Given the description of an element on the screen output the (x, y) to click on. 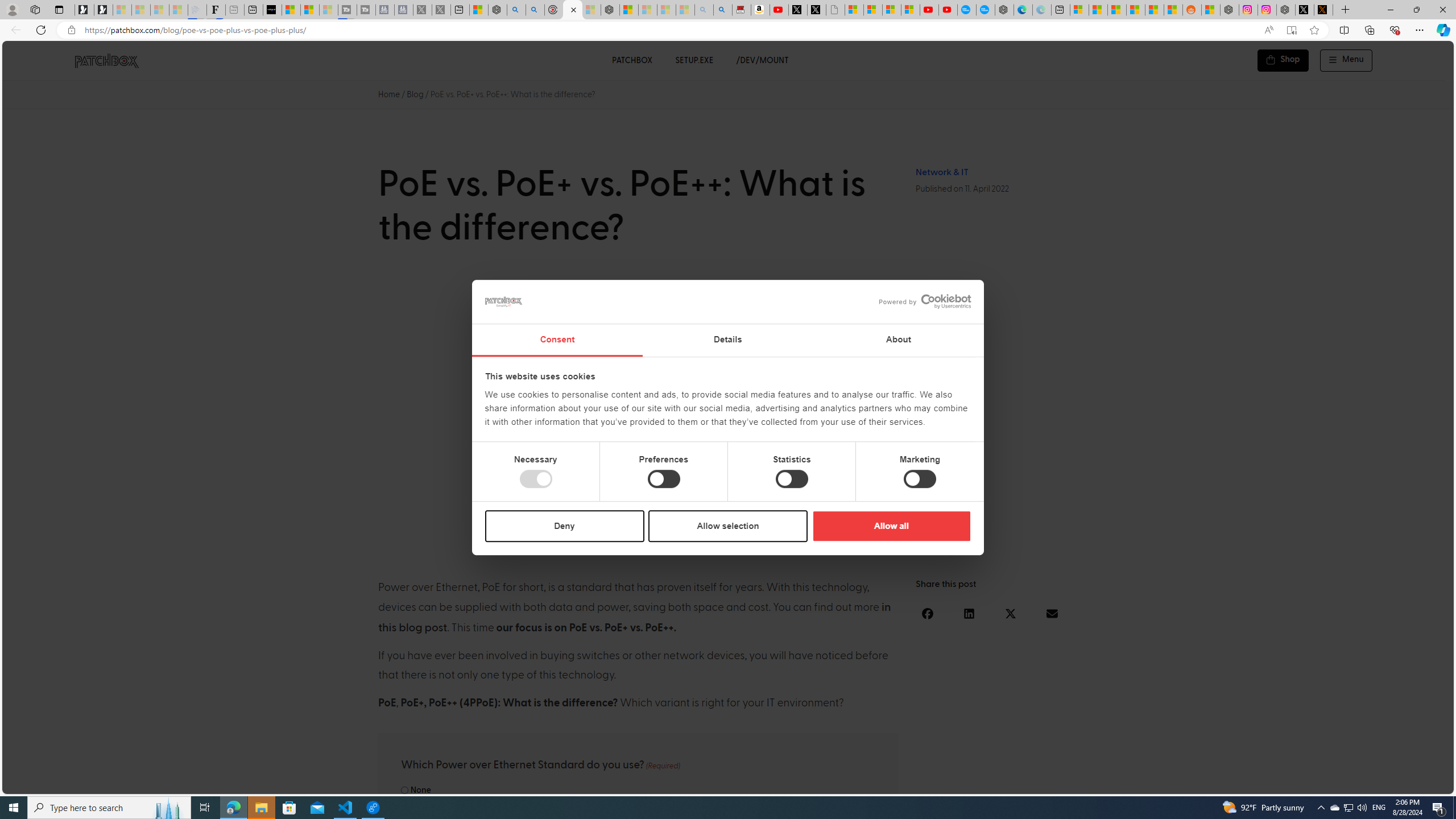
Language switcher : Finnish (1391, 782)
PATCHBOX - Simplify IT (106, 60)
Consent (556, 340)
Share on facebook (927, 613)
poe ++ standard - Search (534, 9)
Untitled (835, 9)
Language switcher : Slovak (1345, 782)
Allow all (890, 525)
PoE vs. PoE+ vs. PoE++ (727, 413)
